Given the description of an element on the screen output the (x, y) to click on. 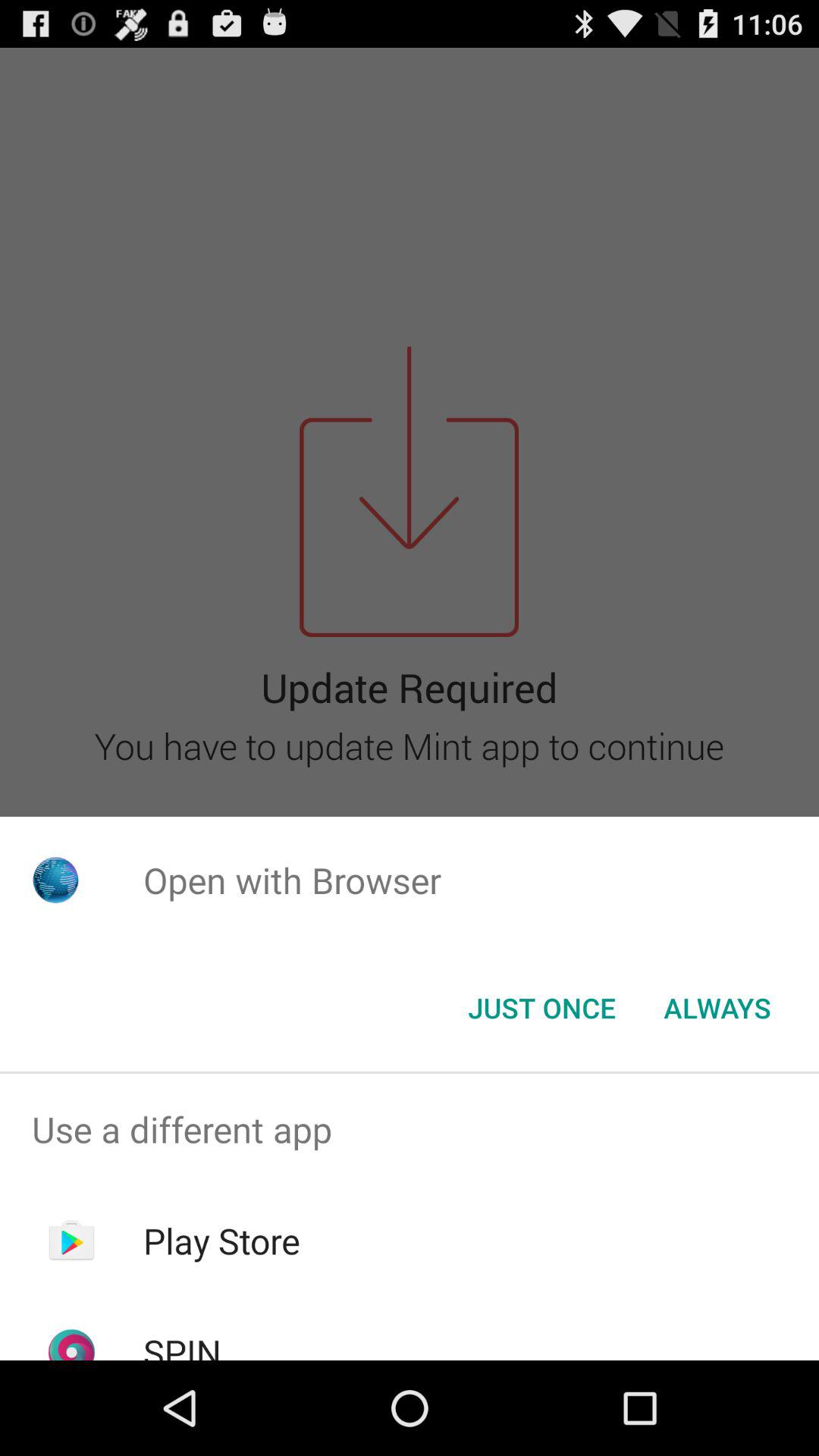
turn on button to the right of just once icon (717, 1007)
